Given the description of an element on the screen output the (x, y) to click on. 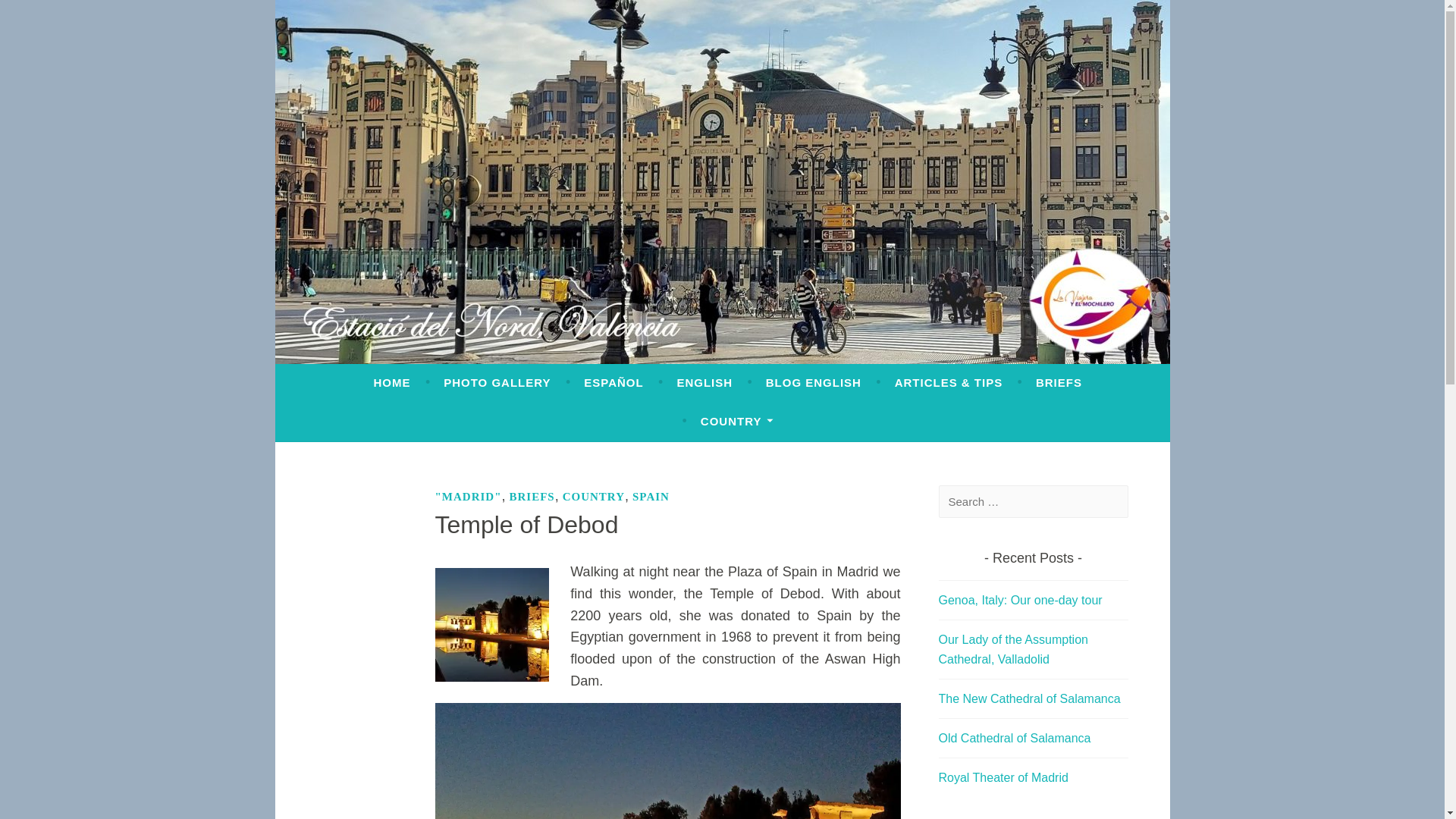
PHOTO GALLERY (497, 382)
BRIEFS (1058, 382)
ENGLISH (704, 382)
COUNTRY (736, 420)
HOME (391, 382)
BLOG ENGLISH (813, 382)
